Given the description of an element on the screen output the (x, y) to click on. 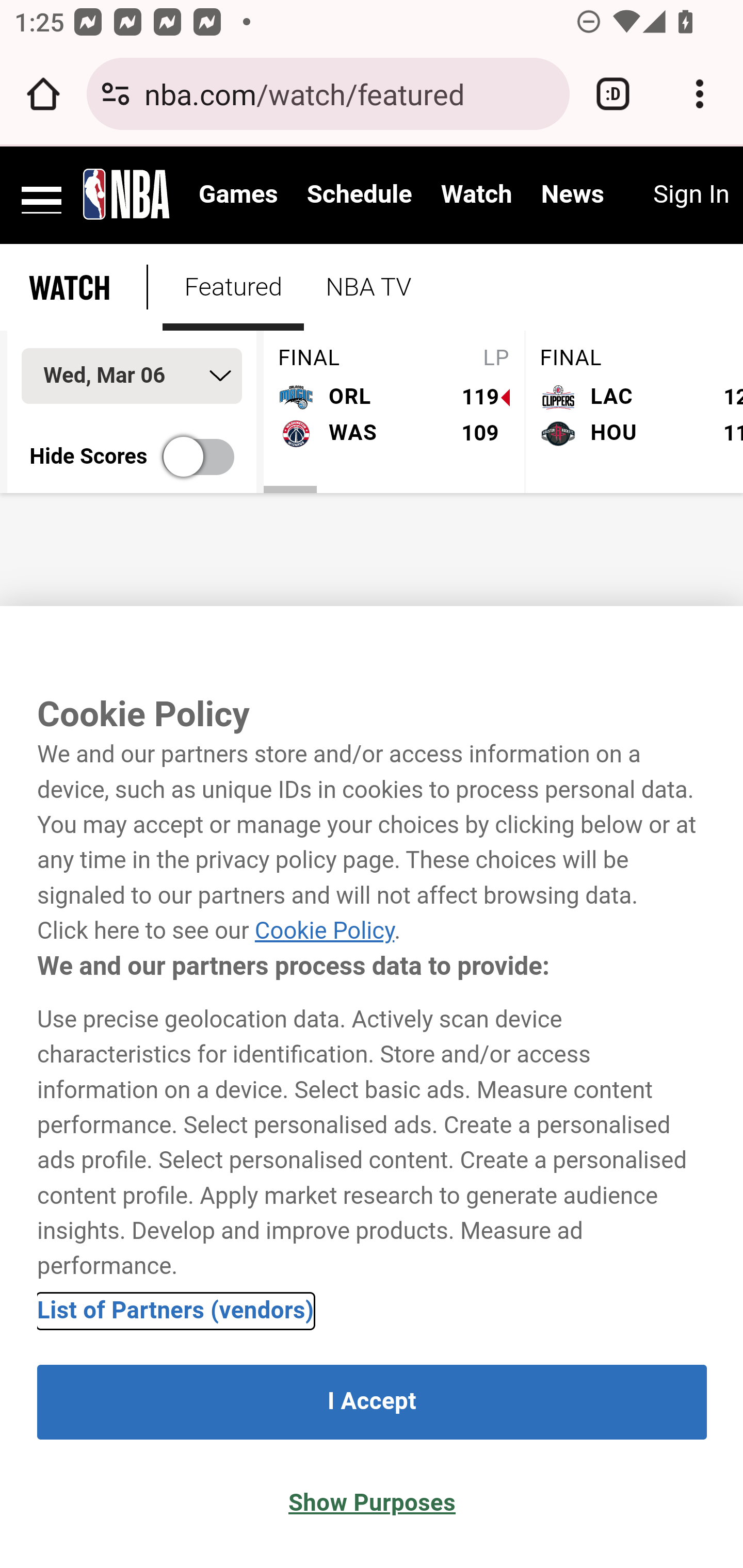
Open the home page (43, 93)
Connection is secure (115, 93)
Switch or close tabs (612, 93)
Customize and control Google Chrome (699, 93)
nba.com/watch/featured (349, 92)
Games (238, 195)
Schedule (358, 195)
Watch (476, 195)
News (571, 195)
Sign In (690, 195)
NBA Logo NBA NBA Logo NBA (127, 193)
Global Navigation Toggle (42, 193)
Featured (233, 286)
NBA TV (368, 286)
Scoreboard Date Picker (131, 375)
Cookie Policy (323, 931)
List of Partners (vendors) (175, 1310)
I Accept (372, 1402)
Show Purposes (372, 1504)
